Given the description of an element on the screen output the (x, y) to click on. 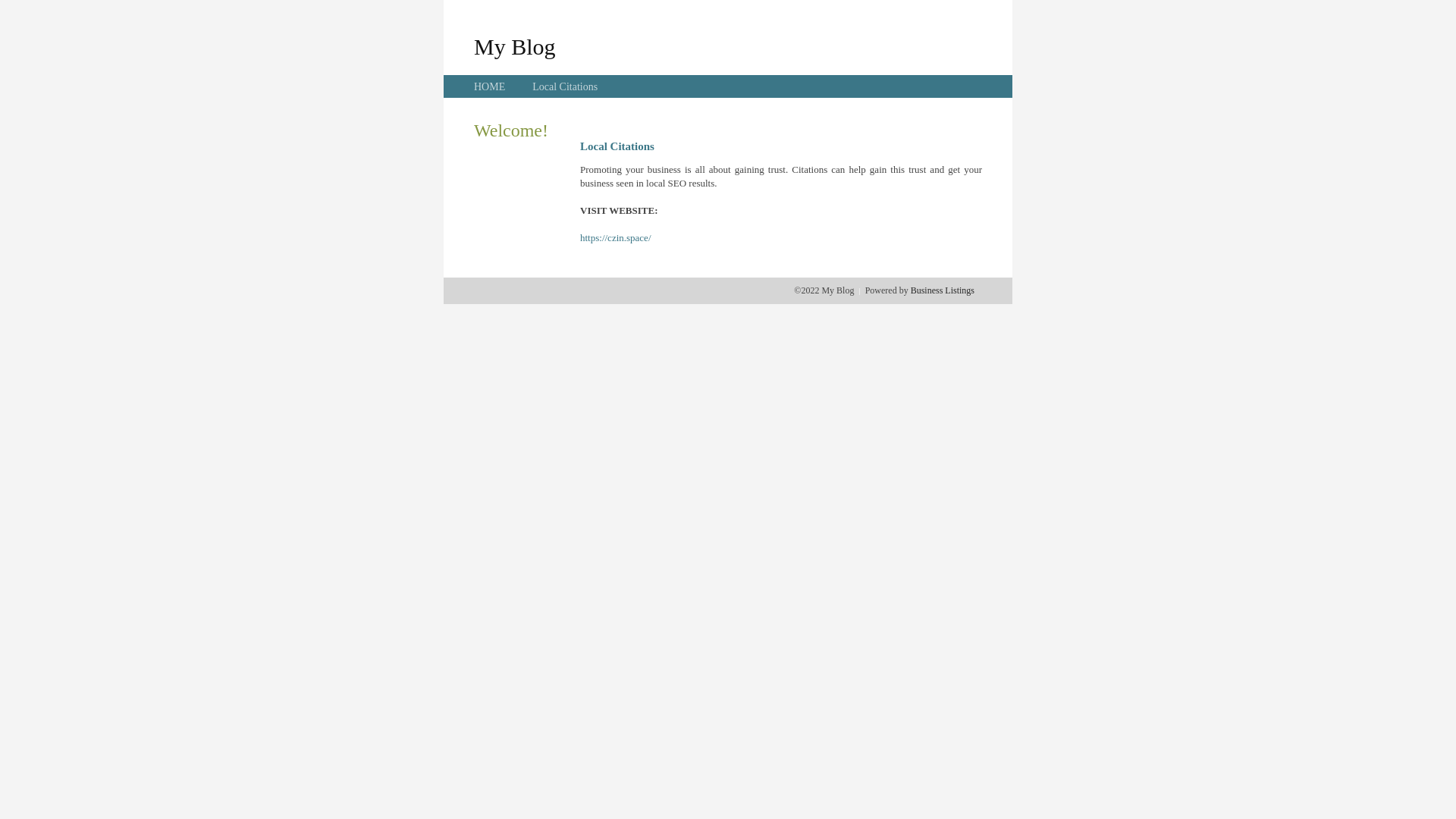
https://czin.space/ Element type: text (615, 237)
Local Citations Element type: text (564, 86)
My Blog Element type: text (514, 46)
Business Listings Element type: text (942, 290)
HOME Element type: text (489, 86)
